Given the description of an element on the screen output the (x, y) to click on. 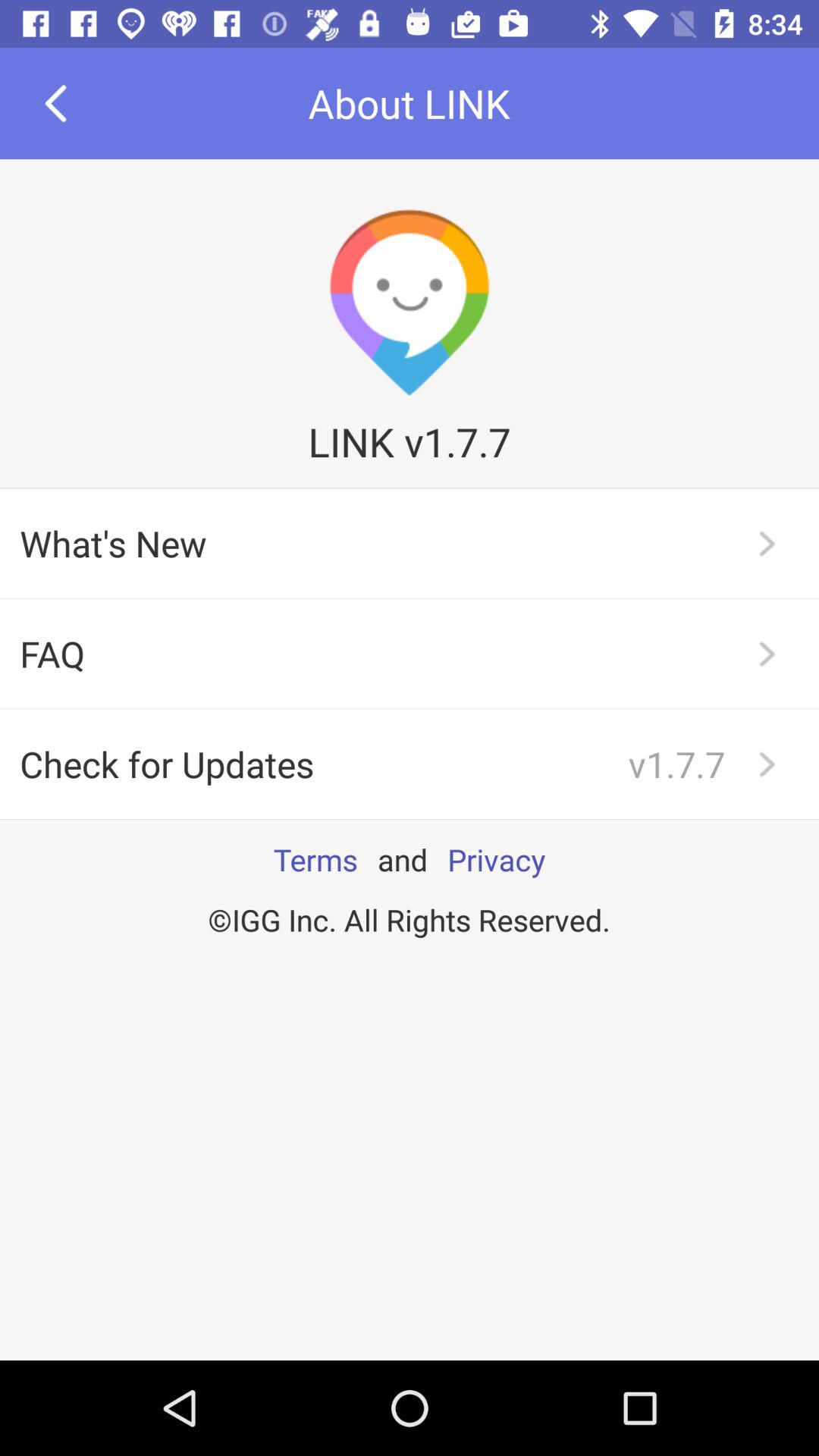
swipe to the privacy item (496, 859)
